Given the description of an element on the screen output the (x, y) to click on. 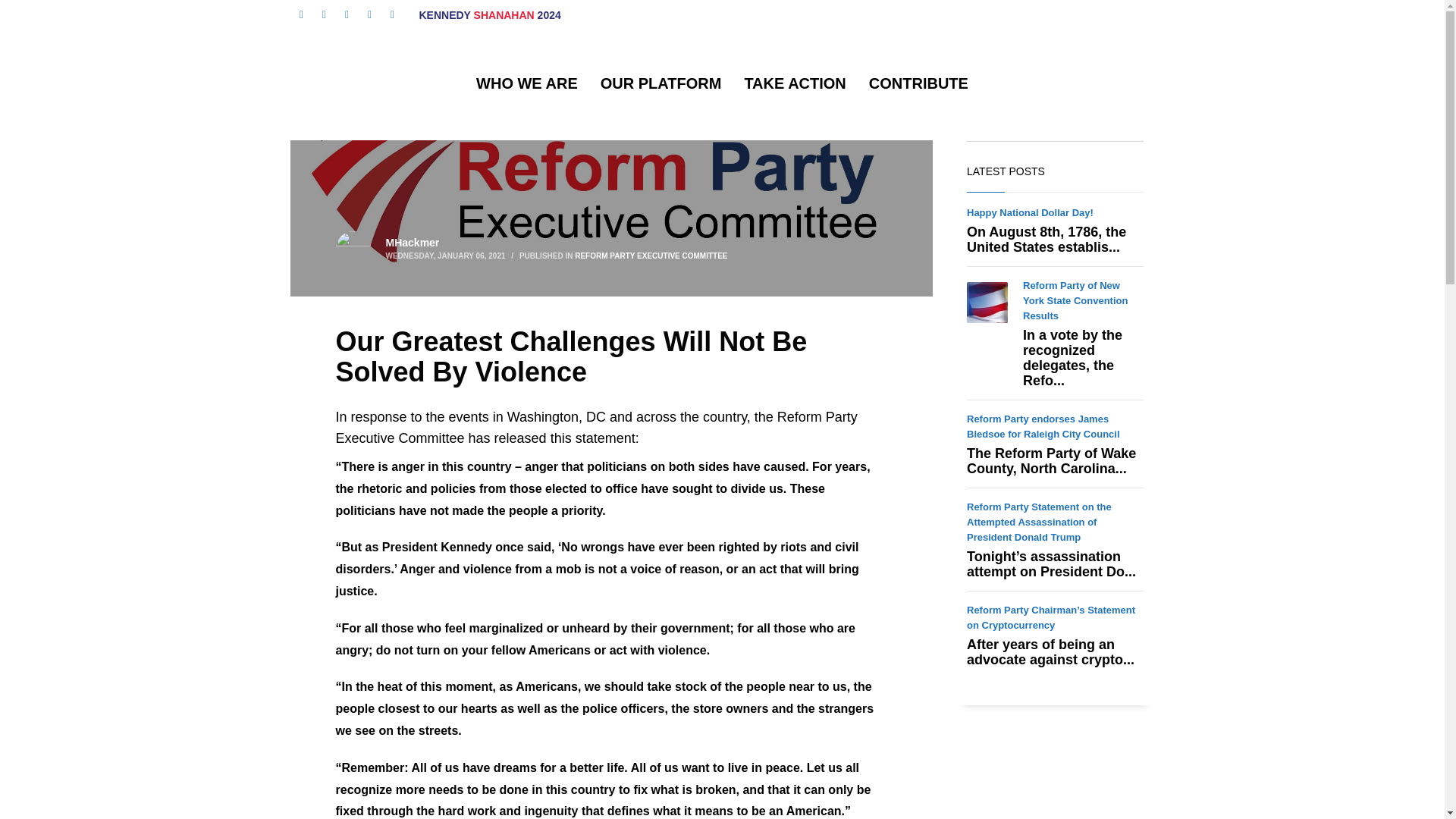
REFORM PARTY EXECUTIVE COMMITTEE (650, 255)
Instagram (391, 15)
go (1125, 126)
KENNEDY SHANAHAN 2024 (489, 14)
LinkedIn (346, 15)
Reform Party of New York State Convention Results (1074, 300)
TAKE ACTION (794, 83)
MHackmer (412, 242)
CONTRIBUTE (918, 83)
